Given the description of an element on the screen output the (x, y) to click on. 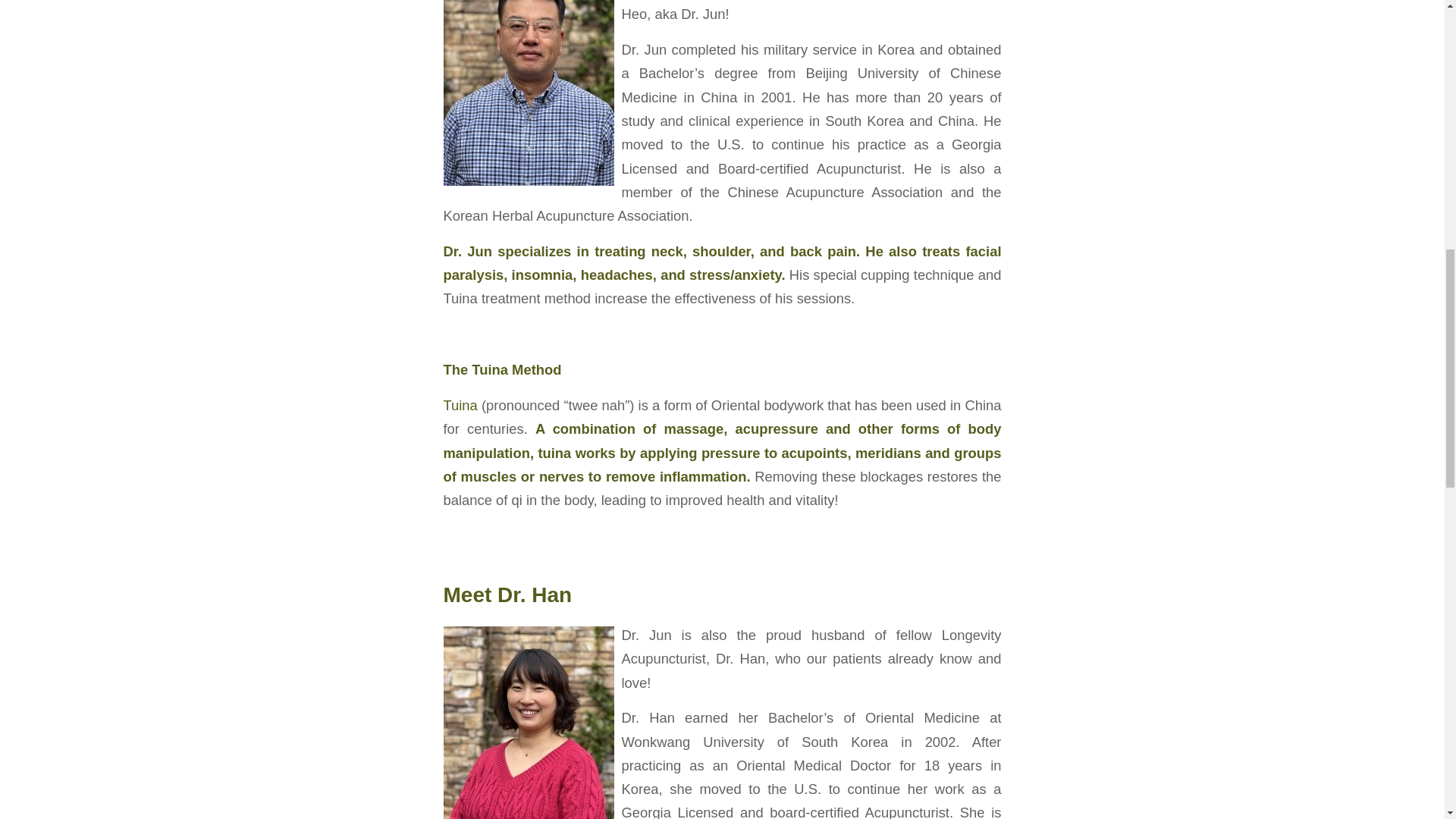
Tuina (459, 405)
